Given the description of an element on the screen output the (x, y) to click on. 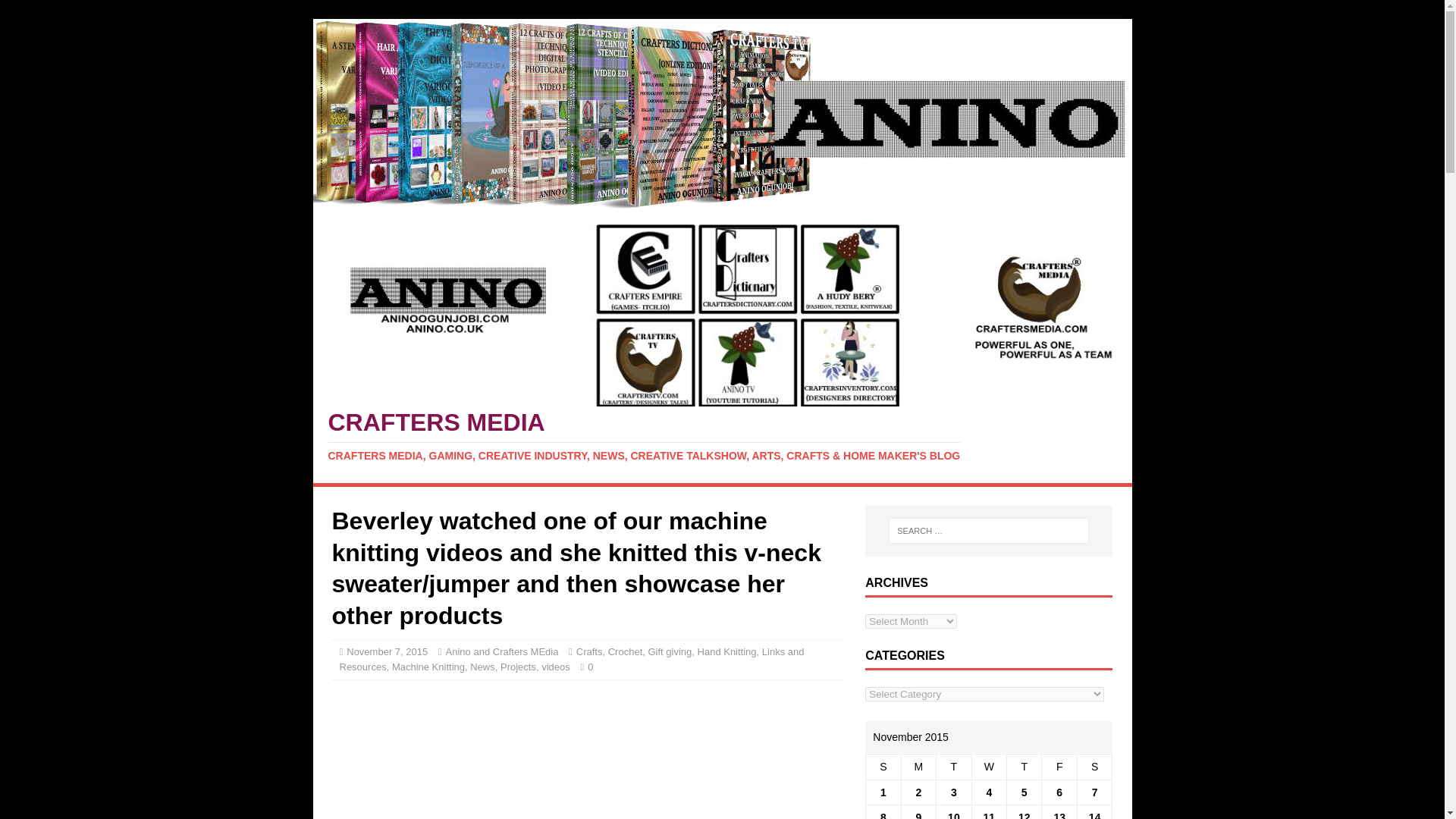
Machine Knitting (427, 666)
10 (953, 815)
November 7, 2015 (387, 651)
Projects (517, 666)
Monday (918, 766)
Search (56, 11)
Tuesday (953, 766)
Friday (1059, 766)
Wednesday (988, 766)
Crafters Media (721, 435)
